Given the description of an element on the screen output the (x, y) to click on. 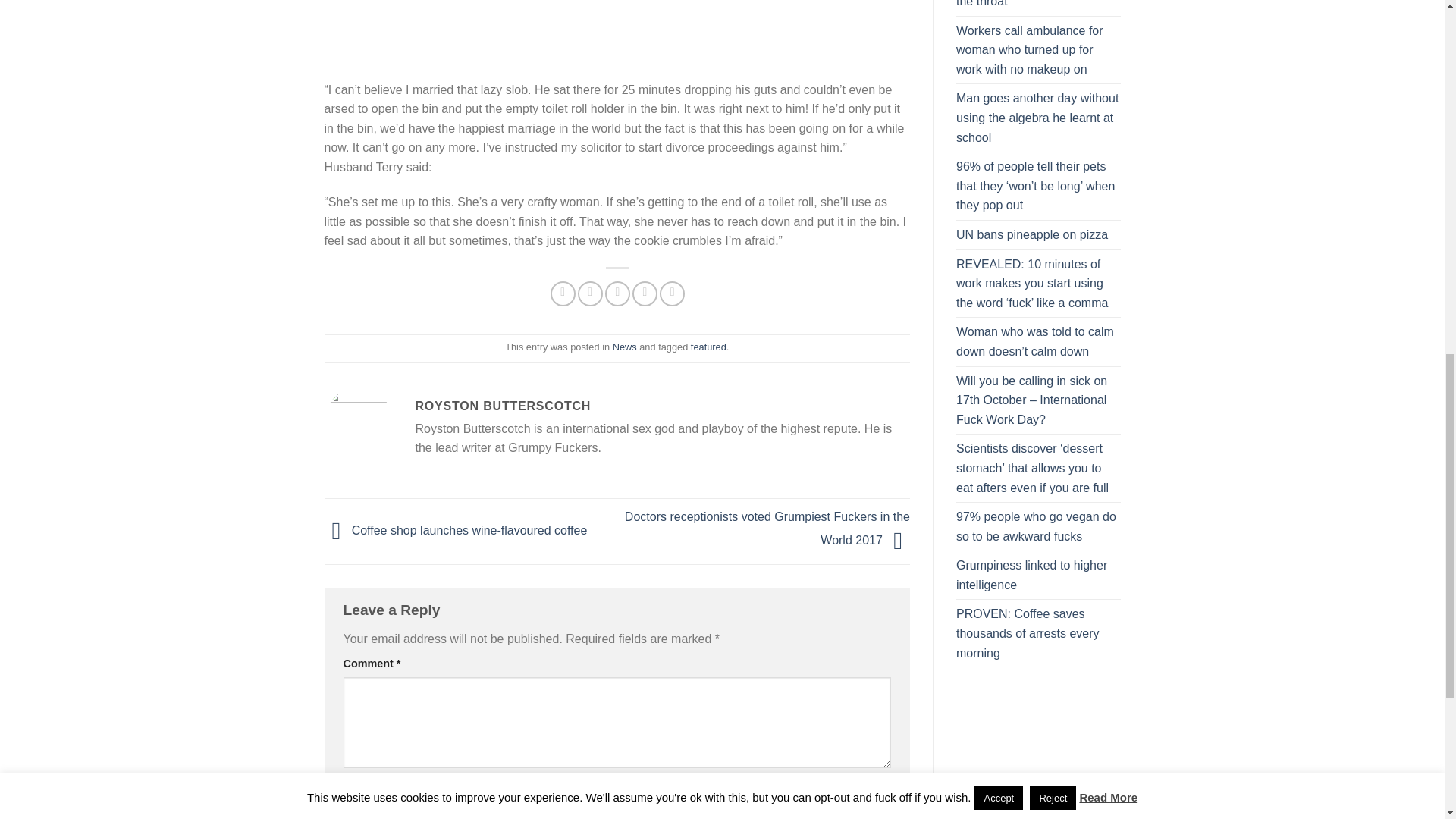
Coffee shop launches wine-flavoured coffee (456, 530)
Share on Twitter (590, 293)
featured (708, 346)
Share on Facebook (562, 293)
Advertisement (617, 27)
News (624, 346)
